Given the description of an element on the screen output the (x, y) to click on. 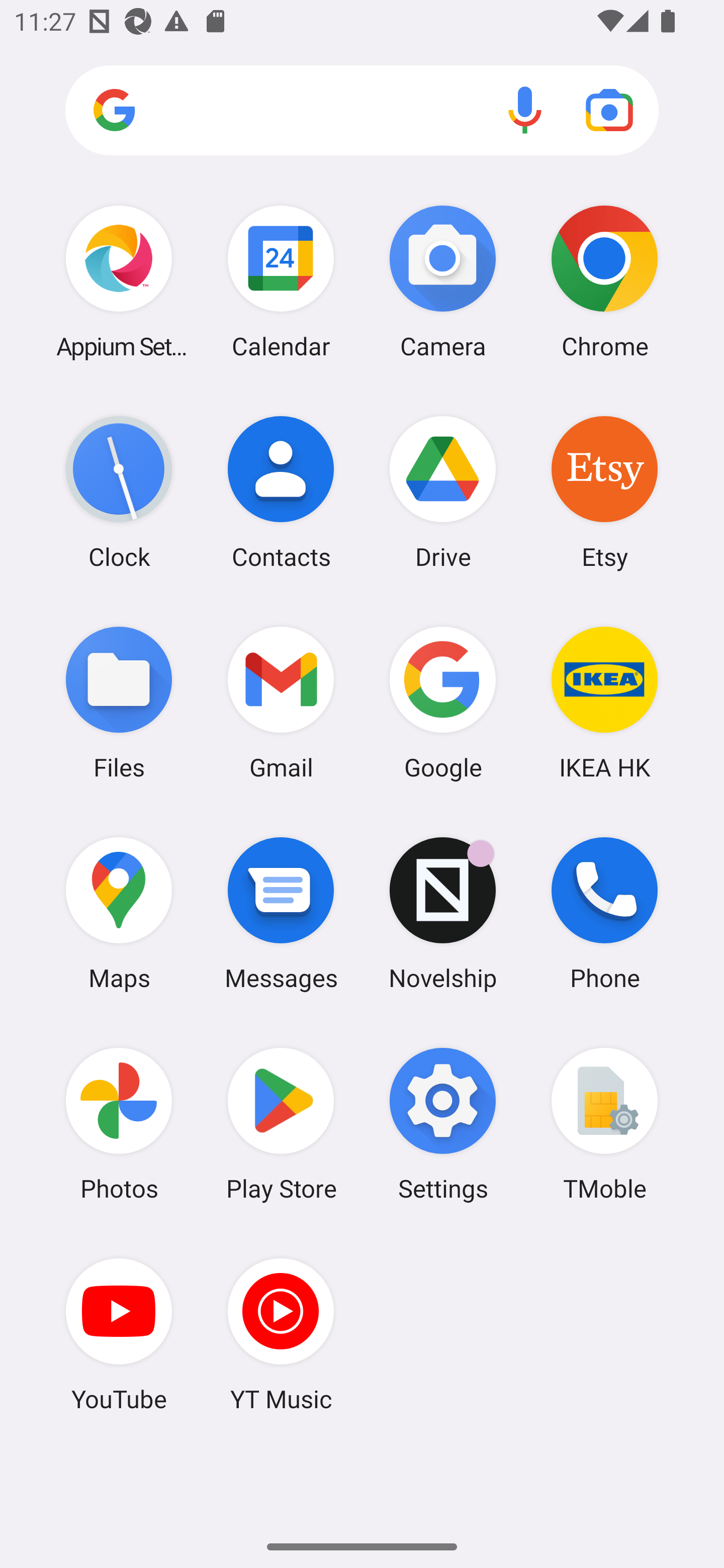
Search apps, web and more (361, 110)
Voice search (524, 109)
Google Lens (608, 109)
Appium Settings (118, 281)
Calendar (280, 281)
Camera (443, 281)
Chrome (604, 281)
Clock (118, 492)
Contacts (280, 492)
Drive (443, 492)
Etsy (604, 492)
Files (118, 702)
Gmail (280, 702)
Google (443, 702)
IKEA HK (604, 702)
Maps (118, 913)
Messages (280, 913)
Novelship Novelship has 2 notifications (443, 913)
Phone (604, 913)
Photos (118, 1124)
Play Store (280, 1124)
Settings (443, 1124)
TMoble (604, 1124)
YouTube (118, 1334)
YT Music (280, 1334)
